Given the description of an element on the screen output the (x, y) to click on. 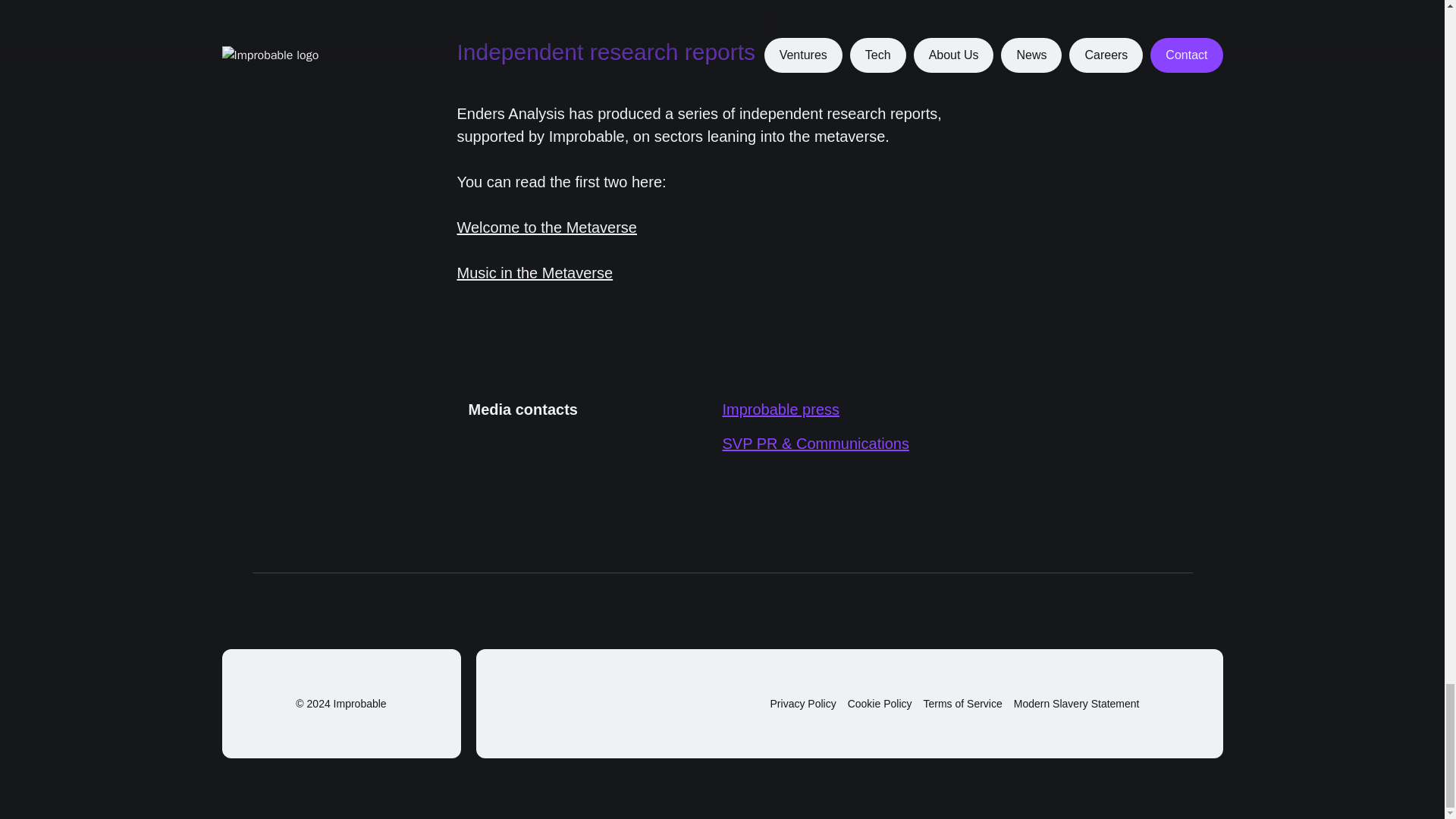
Welcome to the Metaverse (547, 227)
Cookie Policy (879, 703)
Privacy Policy (802, 703)
Terms of Service (963, 703)
Music in the Metaverse (534, 272)
Modern Slavery Statement (1076, 703)
Improbable press (781, 409)
